Given the description of an element on the screen output the (x, y) to click on. 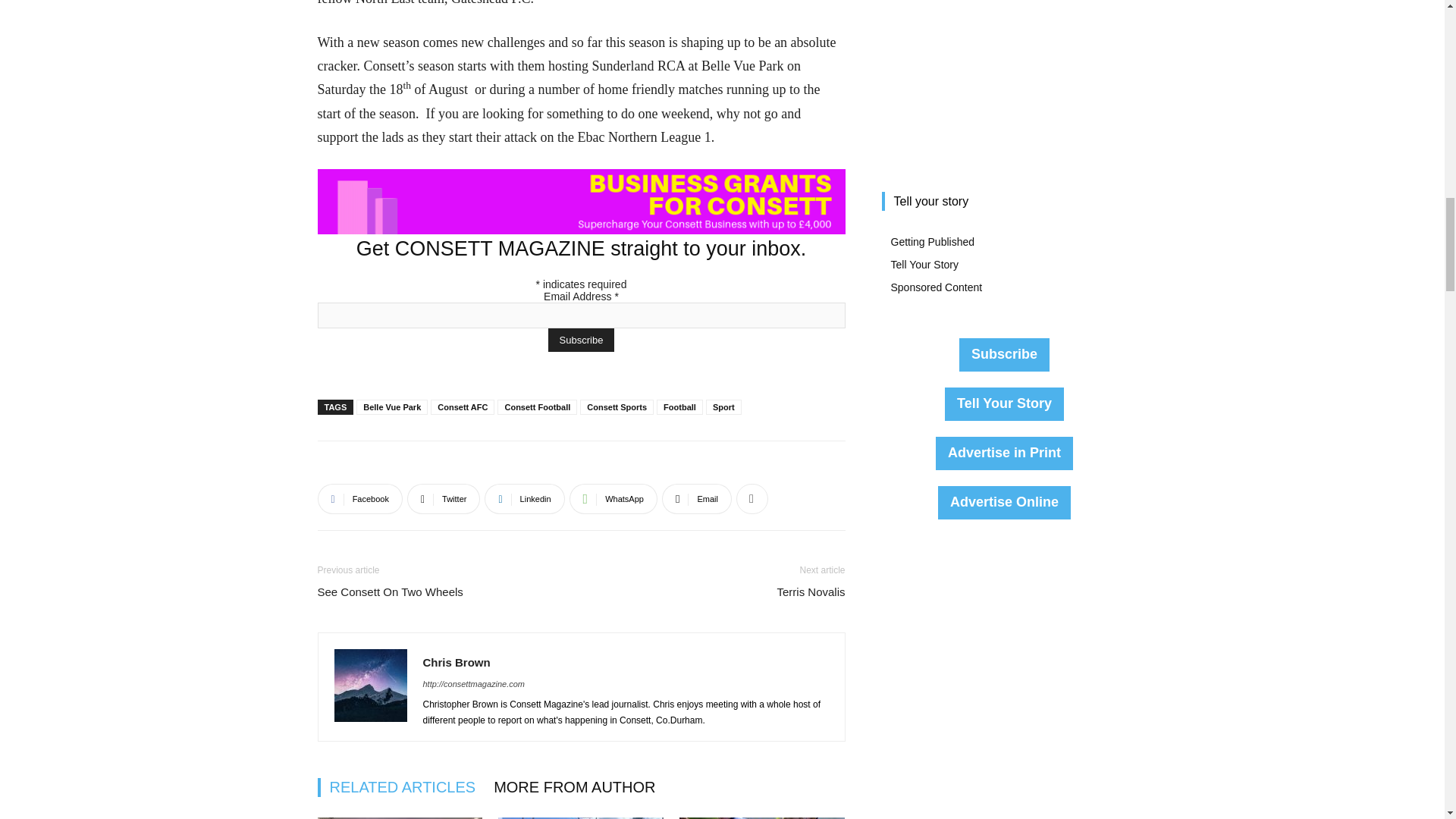
Subscribe (581, 340)
